Given the description of an element on the screen output the (x, y) to click on. 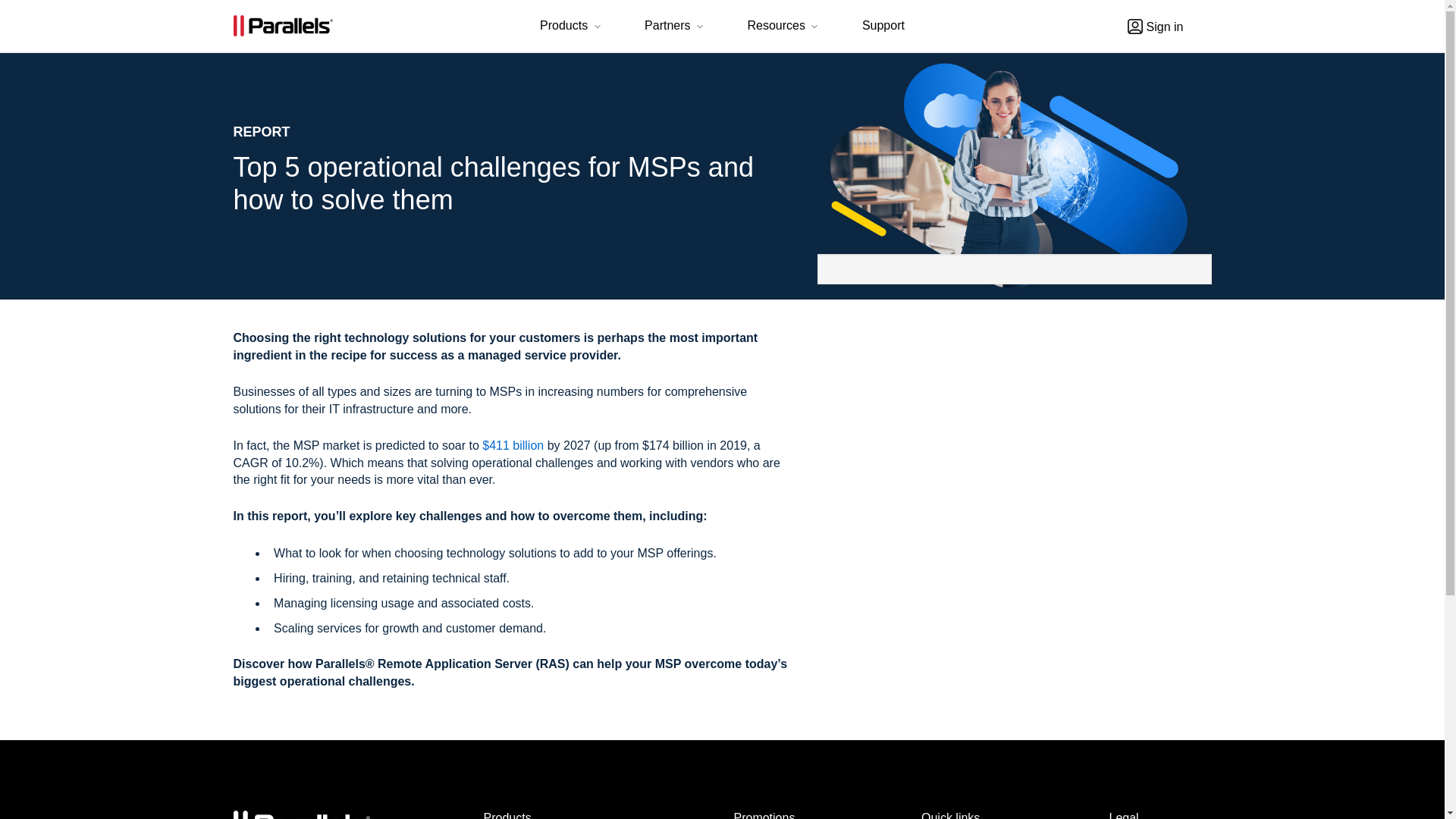
Partners (675, 27)
Parallels (282, 25)
Resources (784, 27)
Products (572, 27)
Parallels (300, 814)
